Given the description of an element on the screen output the (x, y) to click on. 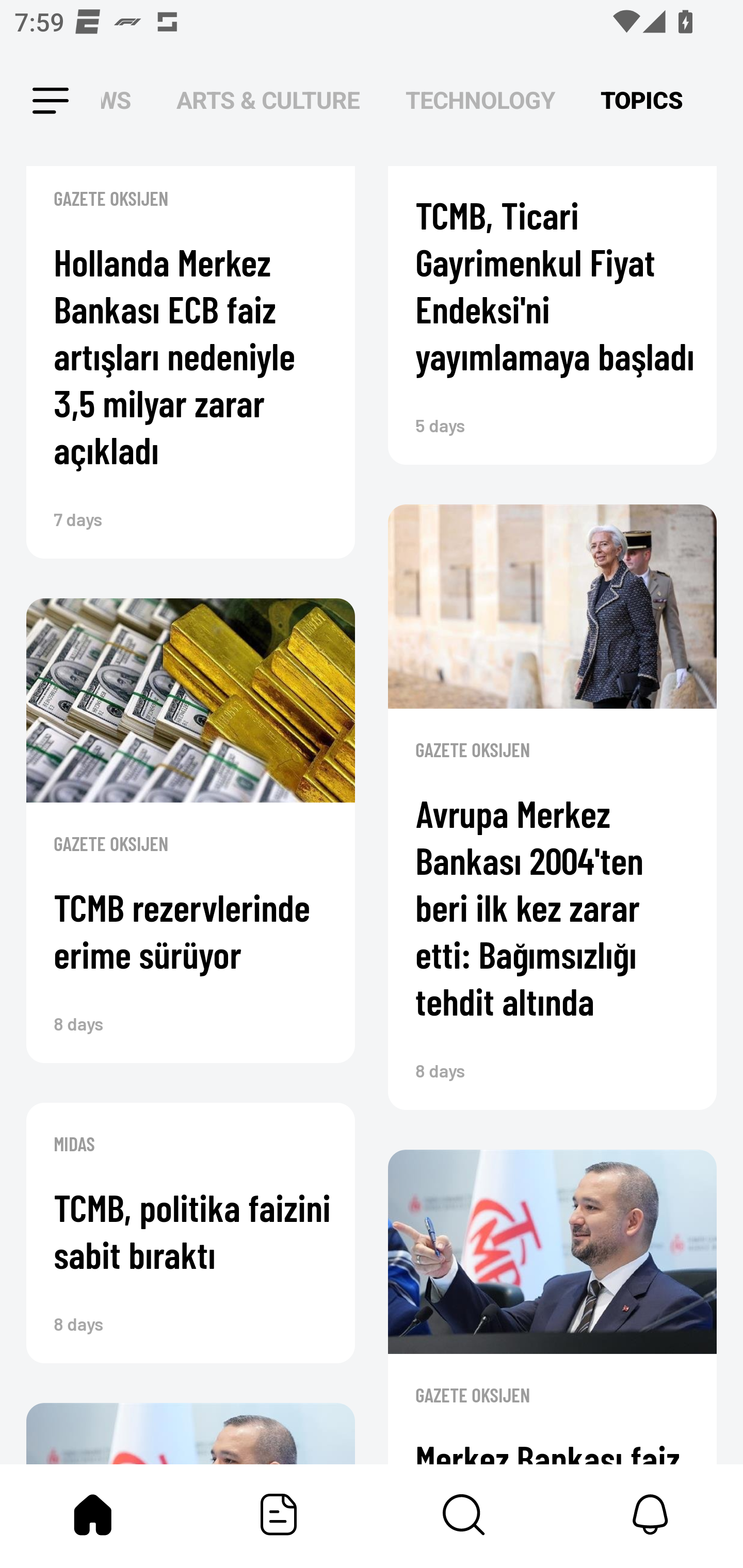
NEWS (121, 100)
ARTS & CULTURE (268, 100)
TECHNOLOGY (480, 100)
Featured (278, 1514)
Content Store (464, 1514)
Notifications (650, 1514)
